Given the description of an element on the screen output the (x, y) to click on. 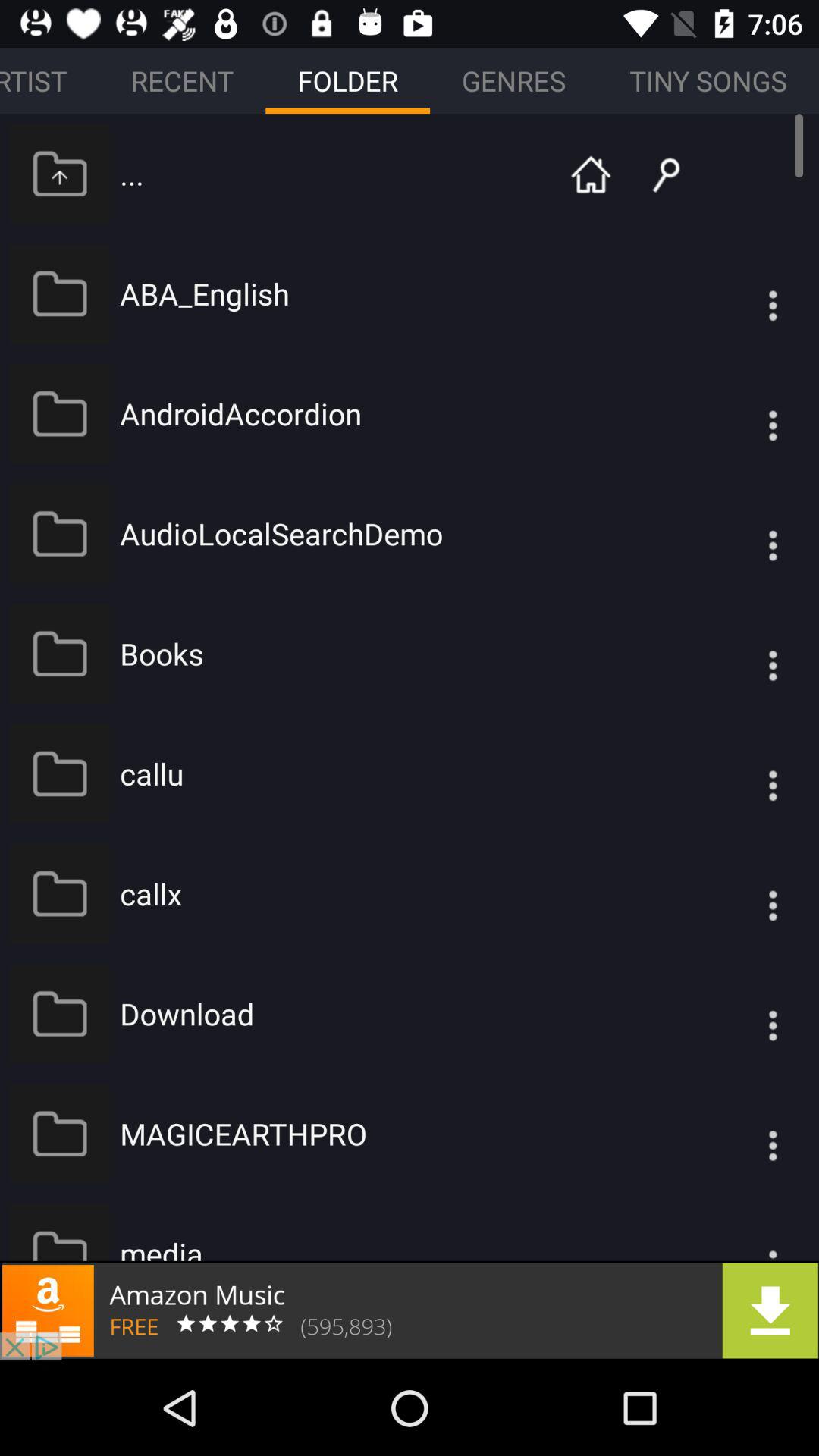
open options menu (742, 773)
